Given the description of an element on the screen output the (x, y) to click on. 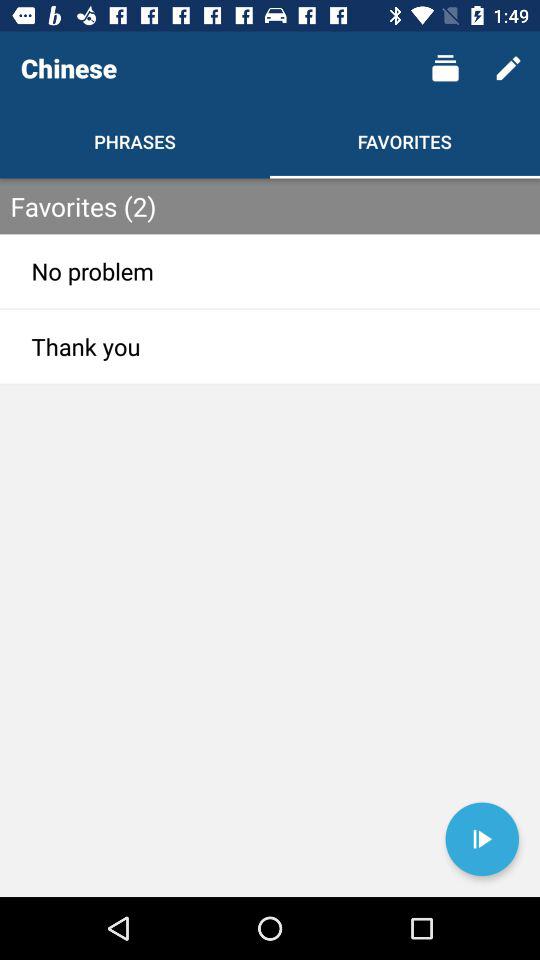
turn on the item at the bottom right corner (482, 839)
